Given the description of an element on the screen output the (x, y) to click on. 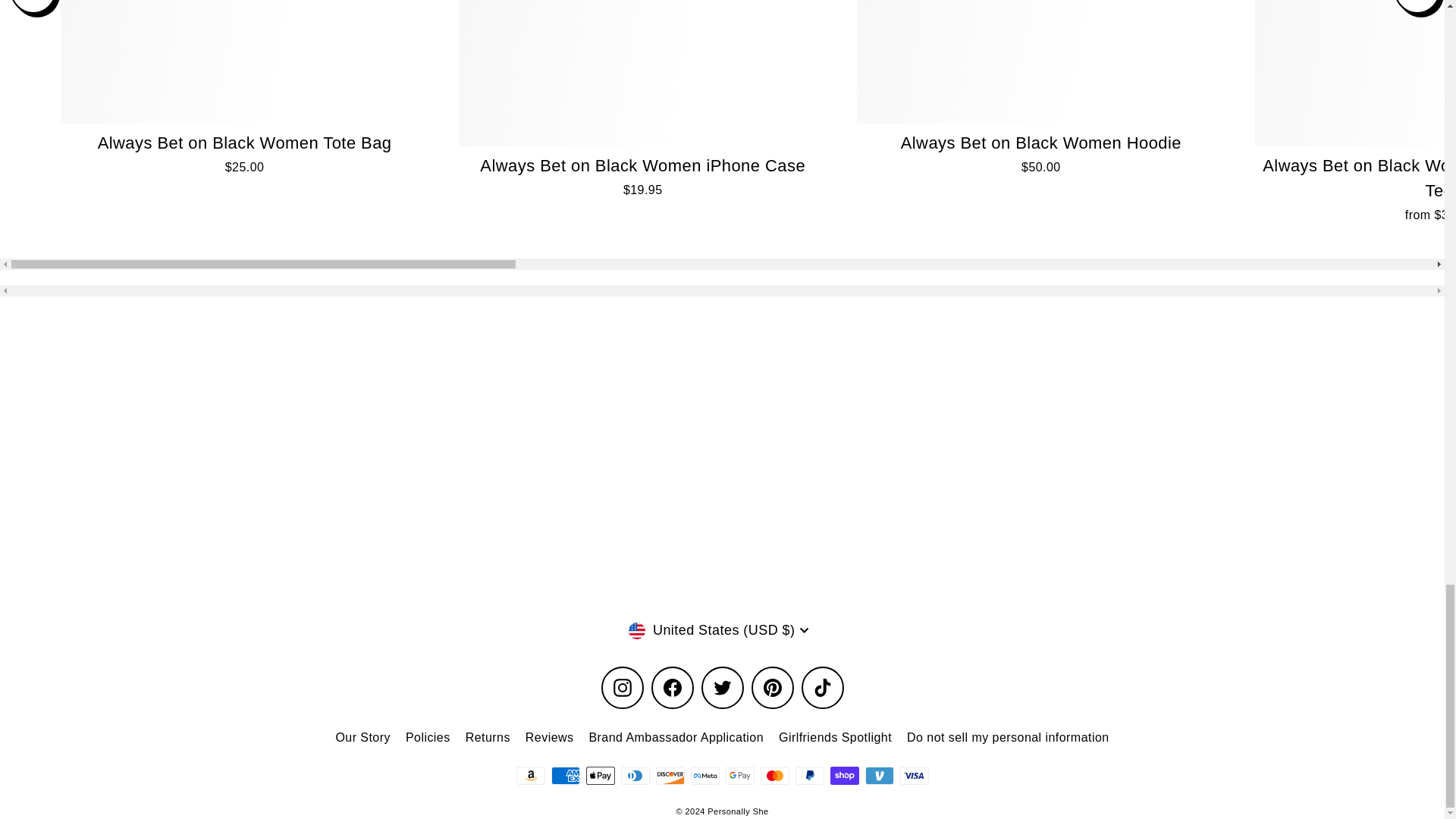
American Express (564, 775)
Personally She on TikTok (821, 687)
Personally She on Pinterest (772, 687)
Amazon (529, 775)
Personally She on Instagram (621, 687)
Personally She on Twitter (721, 687)
Personally She on Facebook (671, 687)
